Given the description of an element on the screen output the (x, y) to click on. 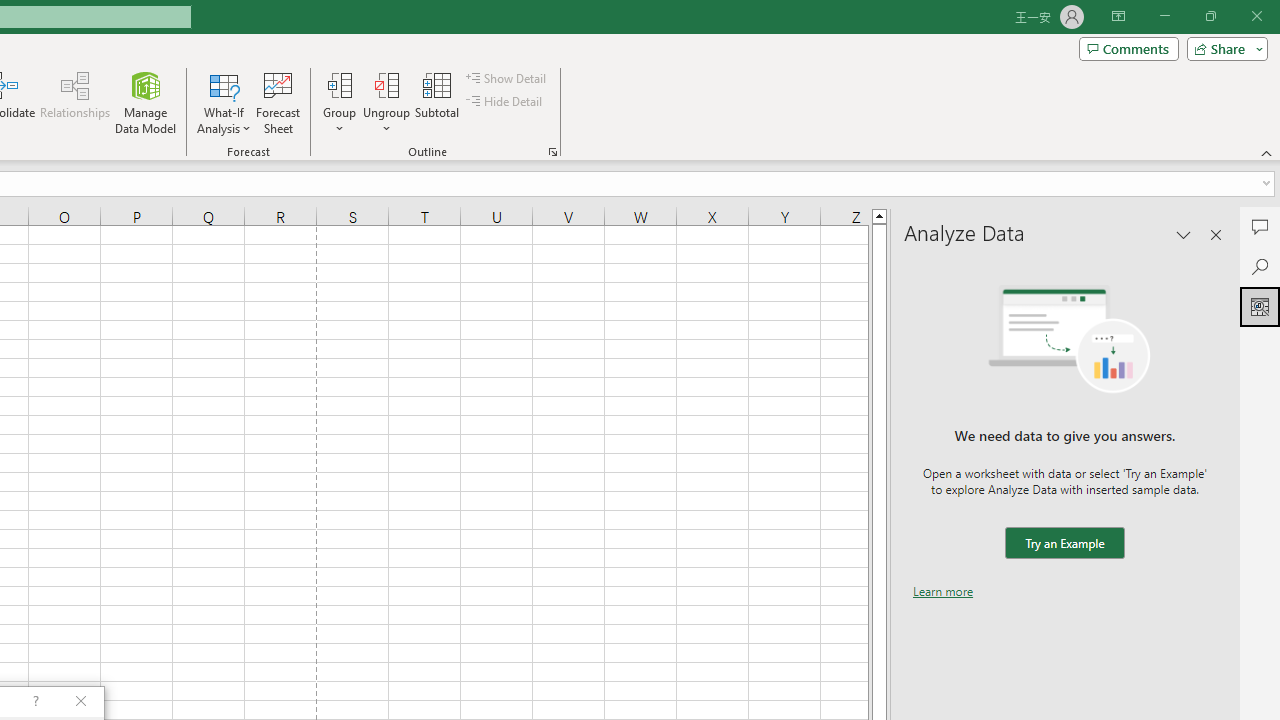
Close (1256, 16)
Comments (1260, 226)
Minimize (1164, 16)
Forecast Sheet (278, 102)
What-If Analysis (223, 102)
Group and Outline Settings (552, 151)
Ungroup... (386, 102)
Search (1260, 266)
Close pane (1215, 234)
Hide Detail (505, 101)
Comments (1128, 48)
Subtotal (437, 102)
Task Pane Options (1183, 234)
